Given the description of an element on the screen output the (x, y) to click on. 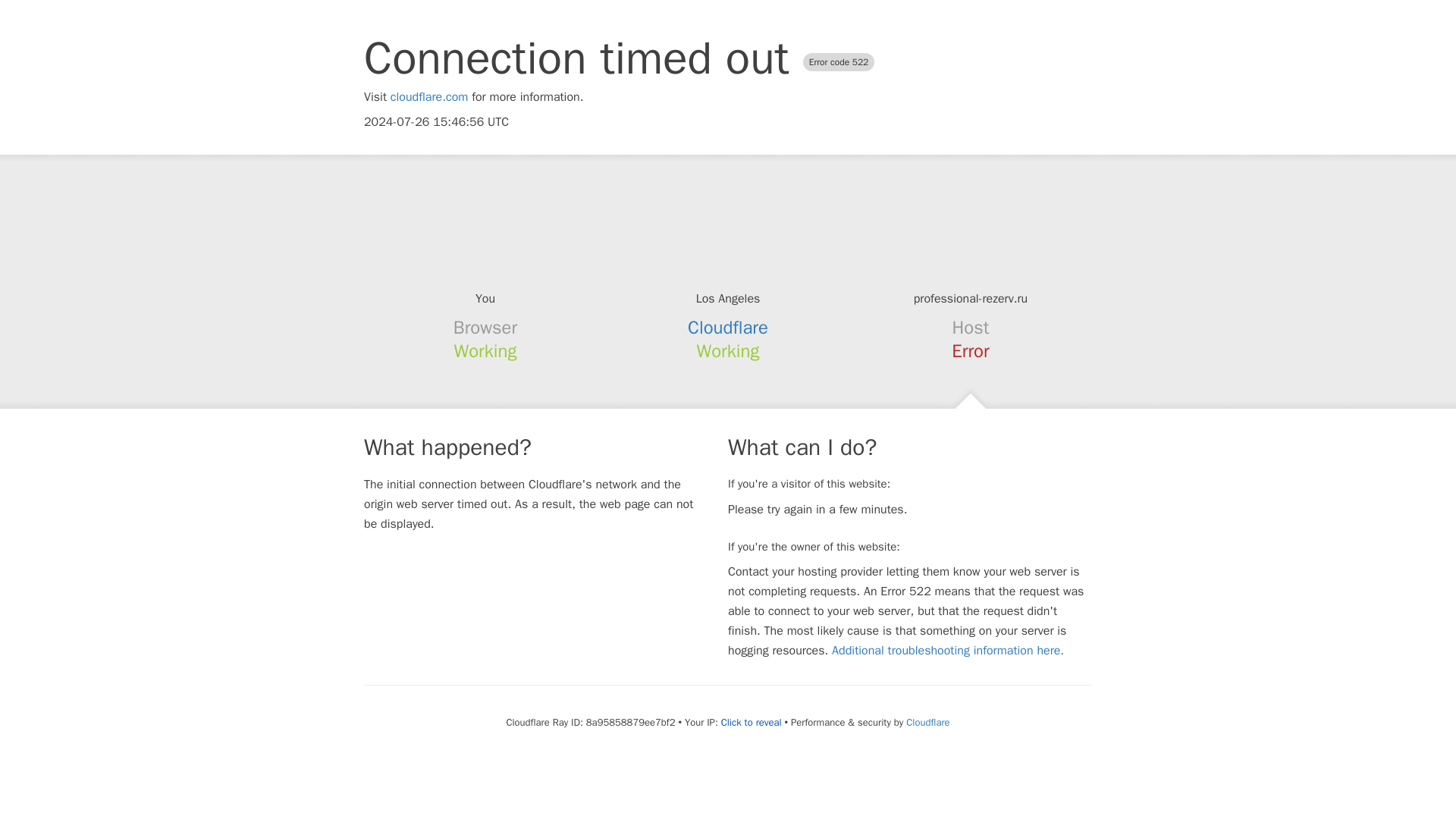
Cloudflare (927, 721)
Additional troubleshooting information here. (947, 650)
Cloudflare (727, 327)
Click to reveal (750, 722)
cloudflare.com (429, 96)
